Given the description of an element on the screen output the (x, y) to click on. 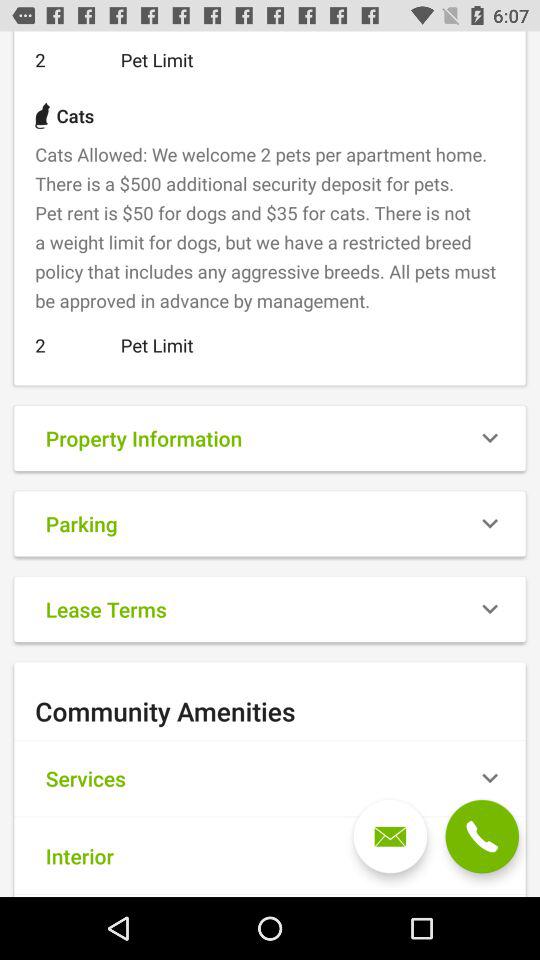
go to the box that reads the text property information (269, 438)
click on lease terms below parking (269, 609)
the drop down button right to services (489, 778)
